Given the description of an element on the screen output the (x, y) to click on. 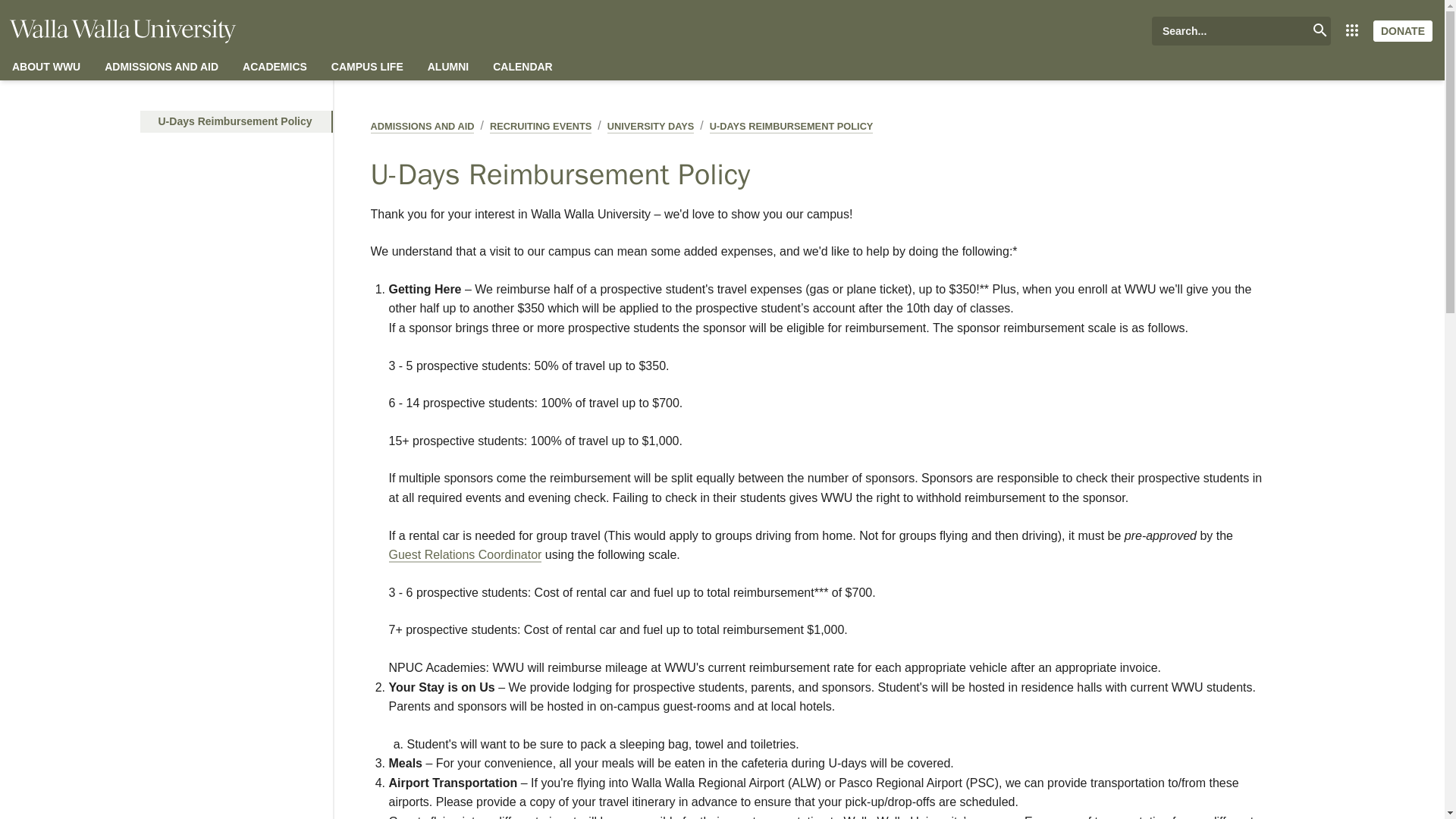
ABOUT WWU (46, 66)
Home (121, 31)
DONATE (1402, 29)
Quicklinks (1351, 30)
